Given the description of an element on the screen output the (x, y) to click on. 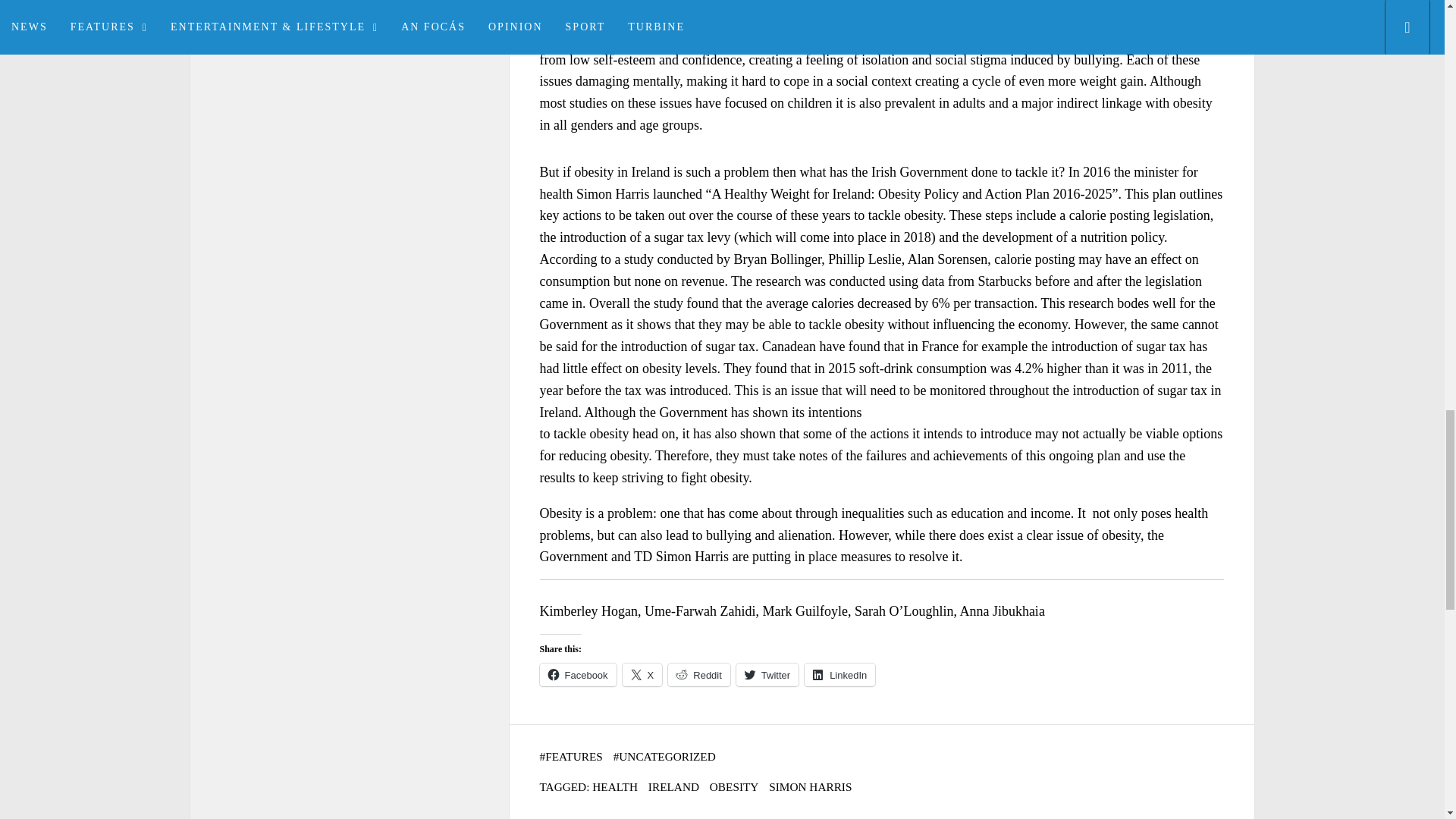
Click to share on Reddit (699, 674)
LinkedIn (840, 674)
Facebook (577, 674)
X (642, 674)
Click to share on X (642, 674)
Click to share on LinkedIn (840, 674)
Reddit (699, 674)
Click to share on Facebook (577, 674)
Click to share on Twitter (766, 674)
Twitter (766, 674)
